Given the description of an element on the screen output the (x, y) to click on. 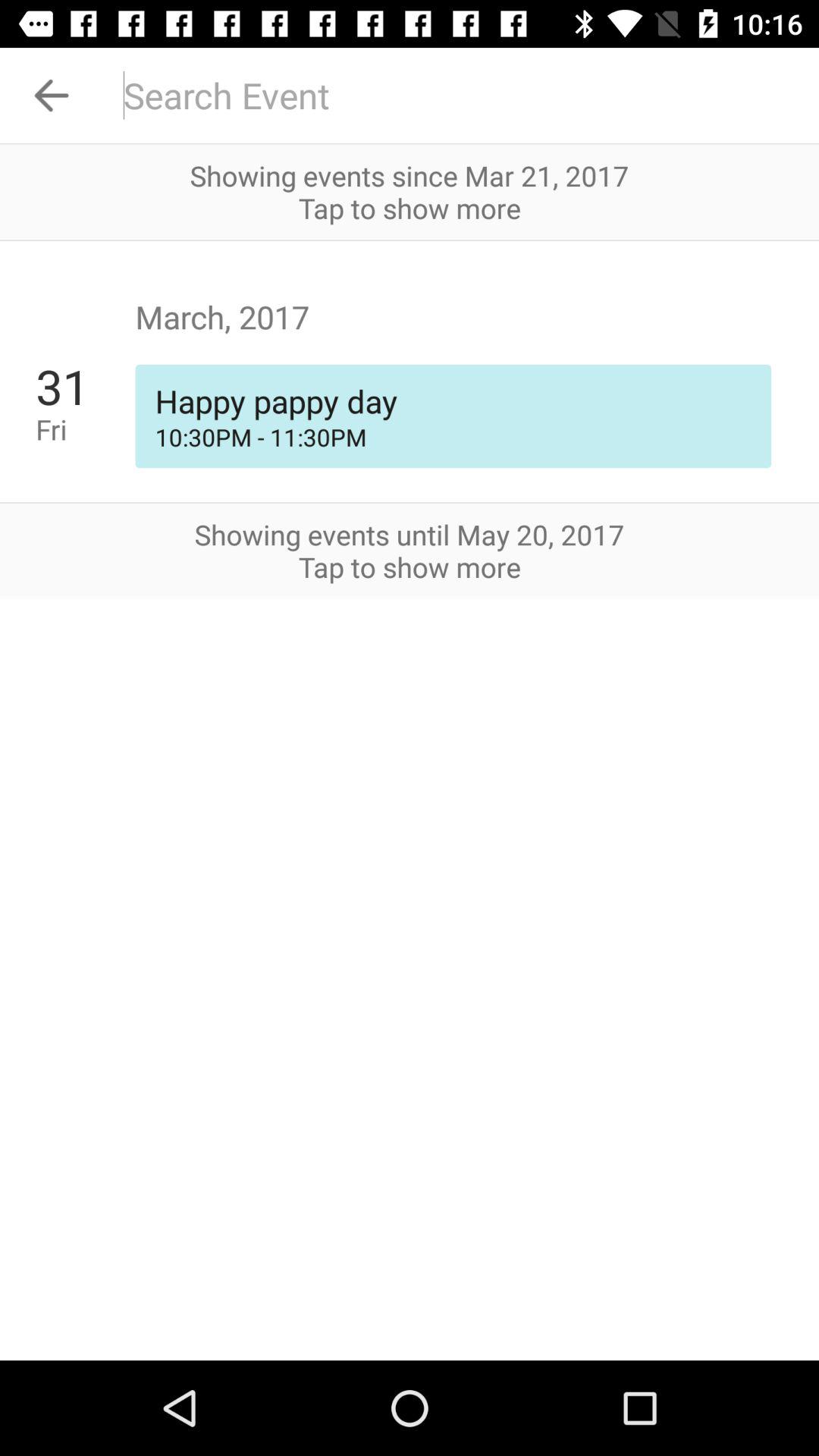
turn off the icon below march, 2017 app (85, 429)
